Given the description of an element on the screen output the (x, y) to click on. 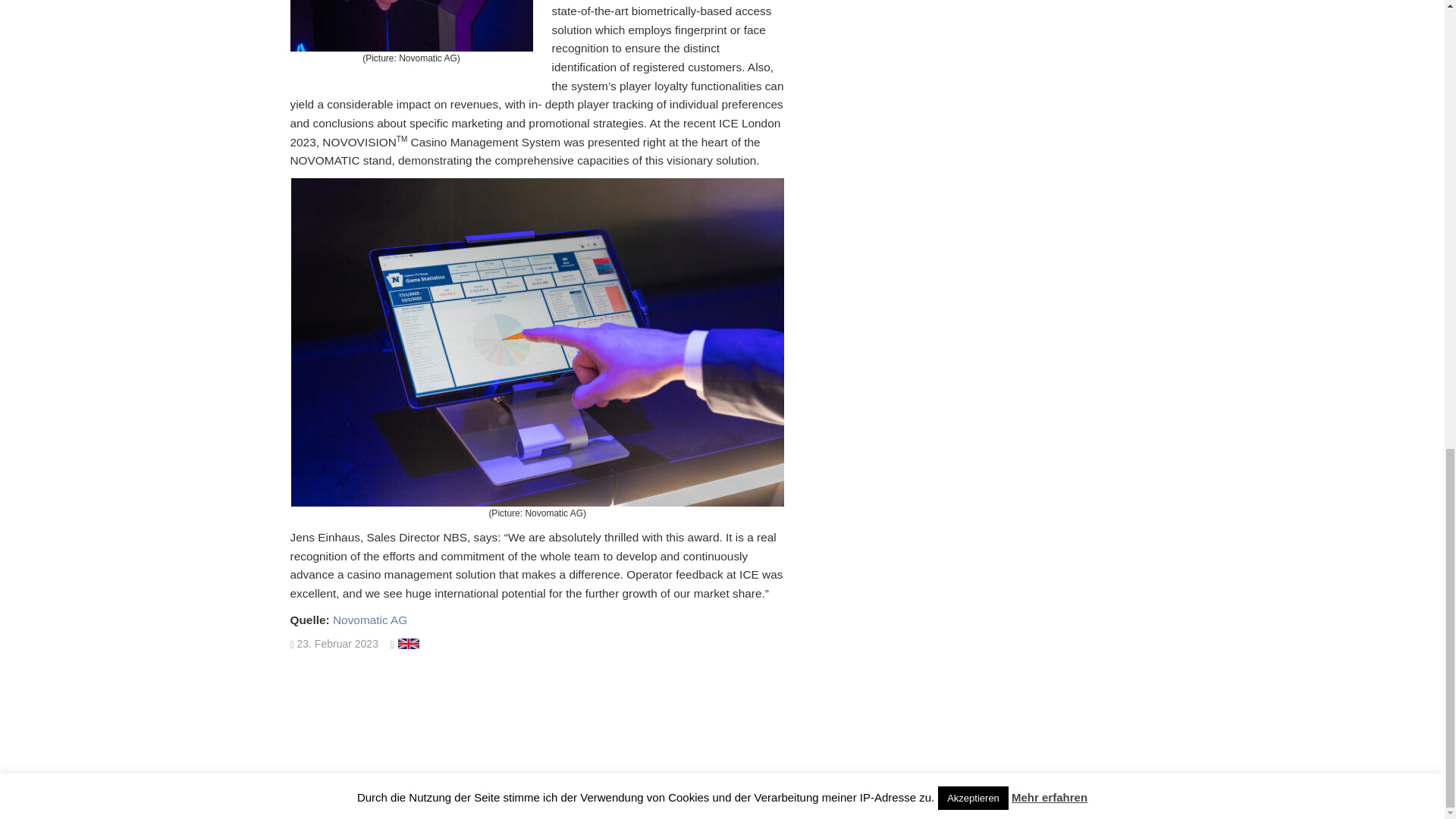
Novomatic AG (370, 619)
UK (408, 644)
